Given the description of an element on the screen output the (x, y) to click on. 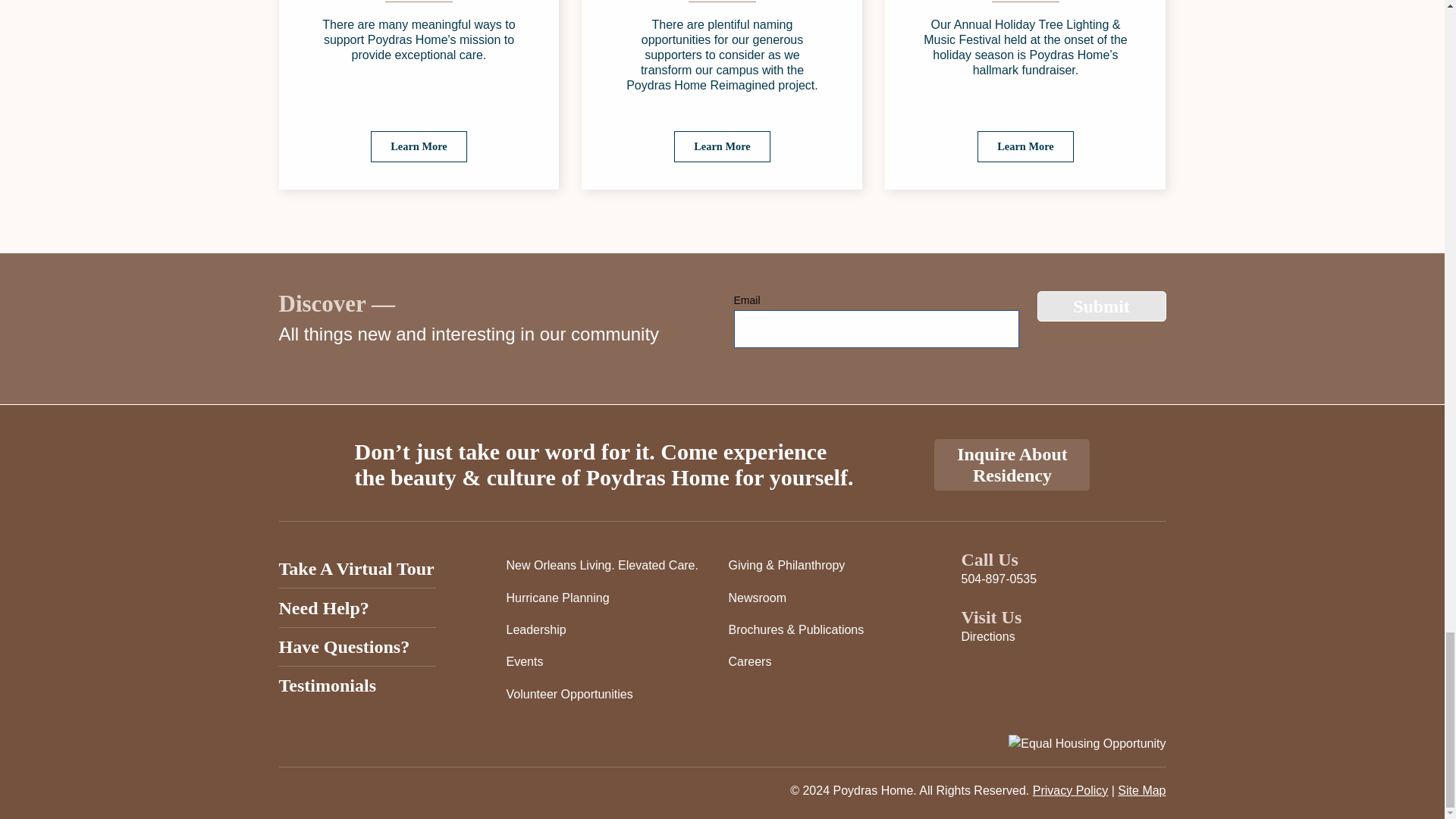
Submit (1101, 306)
Equal Housing Opportunity (1087, 743)
